Given the description of an element on the screen output the (x, y) to click on. 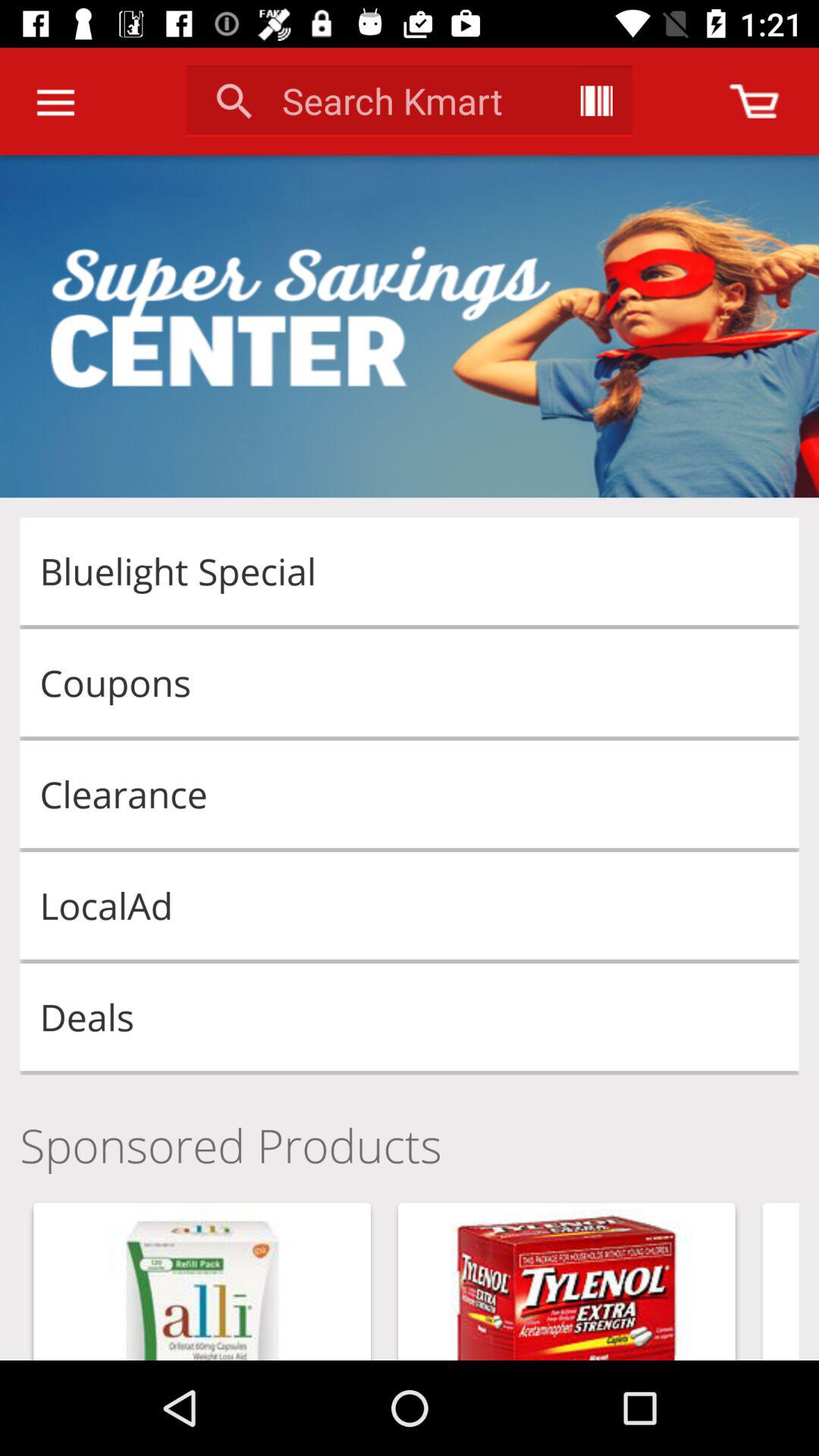
go to shopping cart (754, 101)
